Given the description of an element on the screen output the (x, y) to click on. 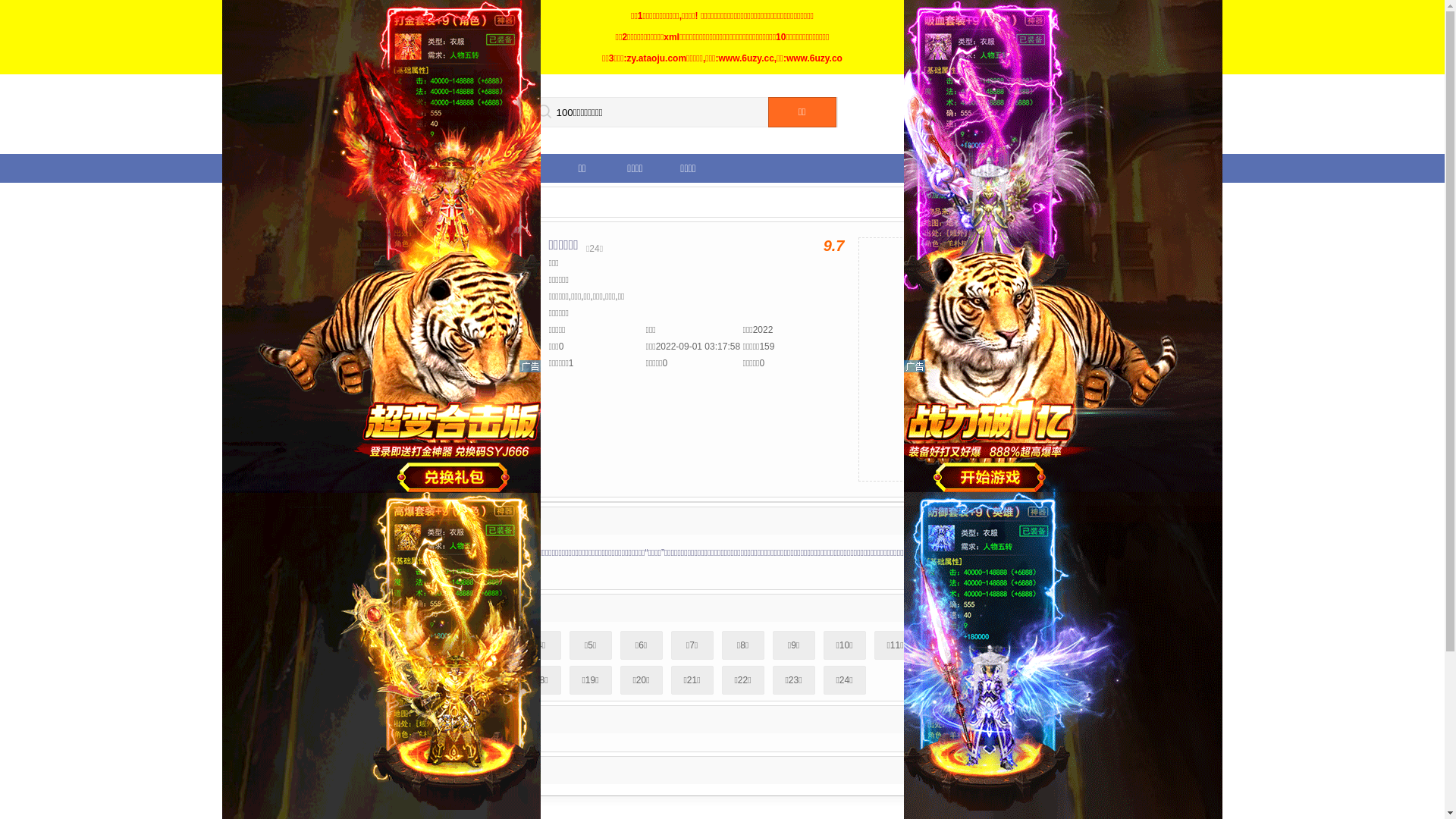
90624299 Element type: text (1080, 129)
